Given the description of an element on the screen output the (x, y) to click on. 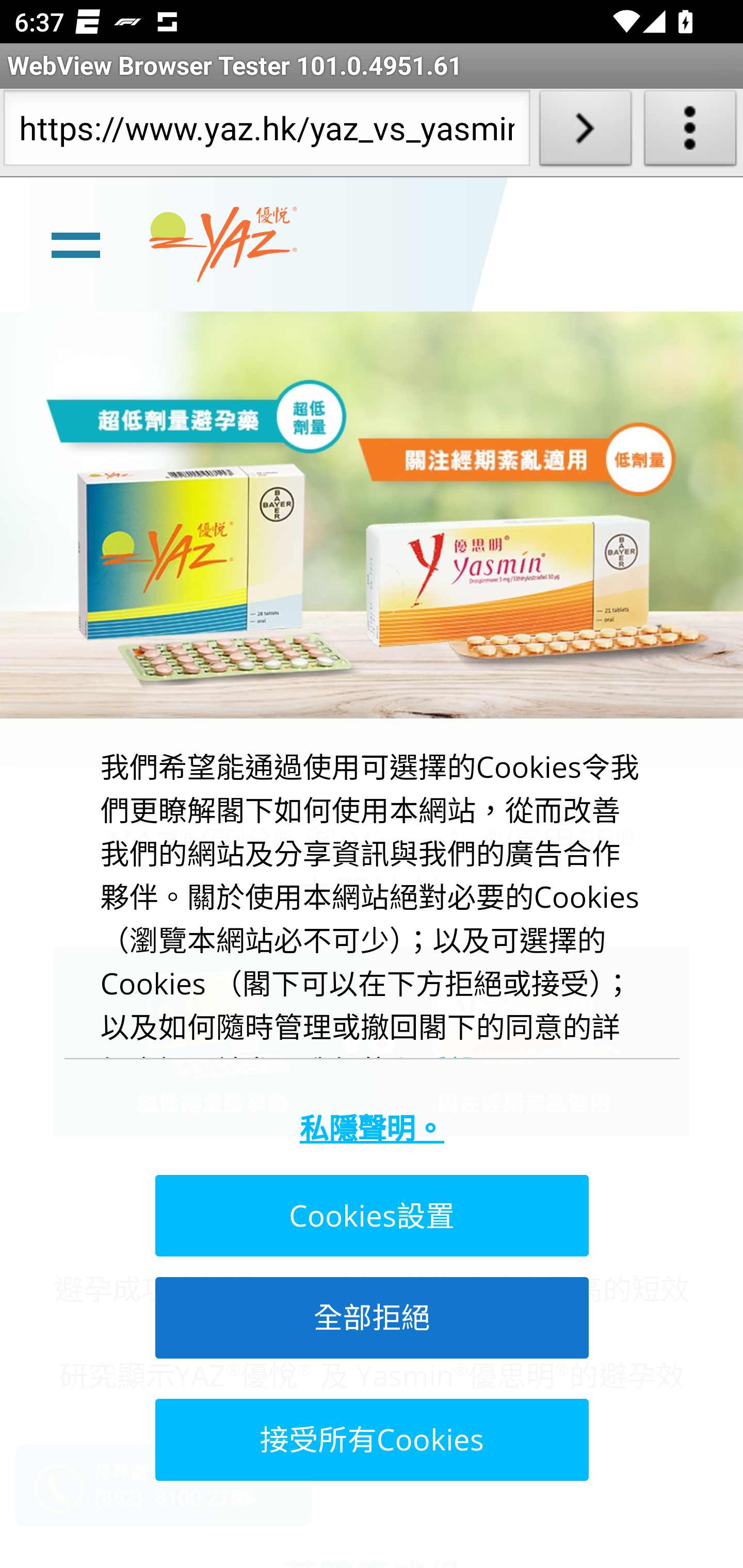
Load URL (585, 132)
About WebView (690, 132)
www.yaz (222, 244)
line Toggle burger menu (75, 242)
Cookies設置 (370, 1215)
全部拒絕 (370, 1317)
接受所有Cookies (370, 1439)
